Given the description of an element on the screen output the (x, y) to click on. 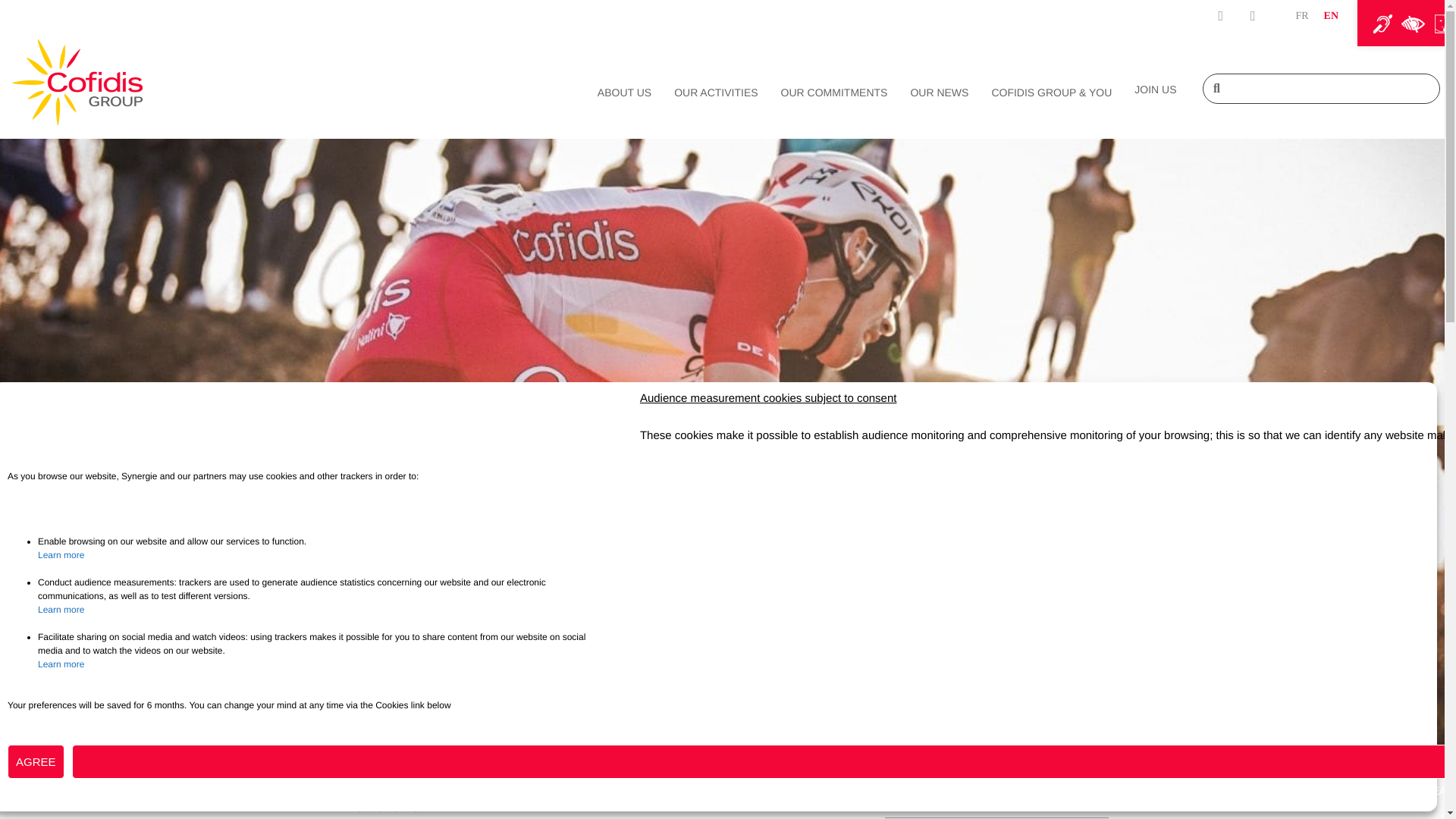
Accessibility Tools (1401, 22)
Open toolbar (1401, 22)
FR (1301, 16)
Learn more (60, 609)
Learn more (60, 664)
Learn more (60, 554)
AGREE (35, 761)
ABOUT US (627, 92)
EN (1330, 16)
